Given the description of an element on the screen output the (x, y) to click on. 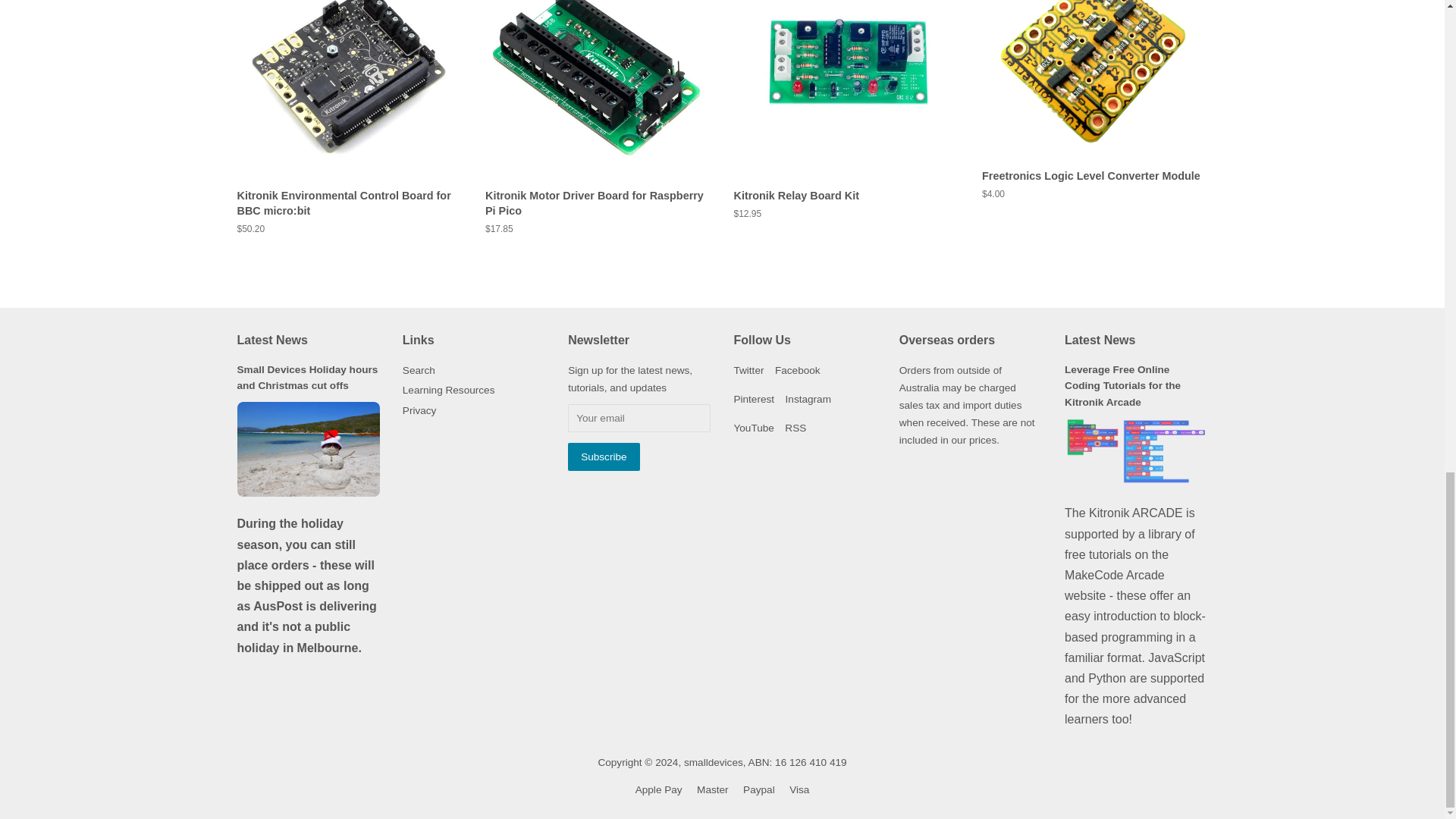
smalldevices on Twitter (747, 369)
smalldevices on YouTube (753, 428)
smalldevices on Pinterest (753, 398)
smalldevices on Facebook (797, 369)
Subscribe (603, 456)
smalldevices on Instagram (808, 398)
smalldevices on RSS (795, 428)
